Given the description of an element on the screen output the (x, y) to click on. 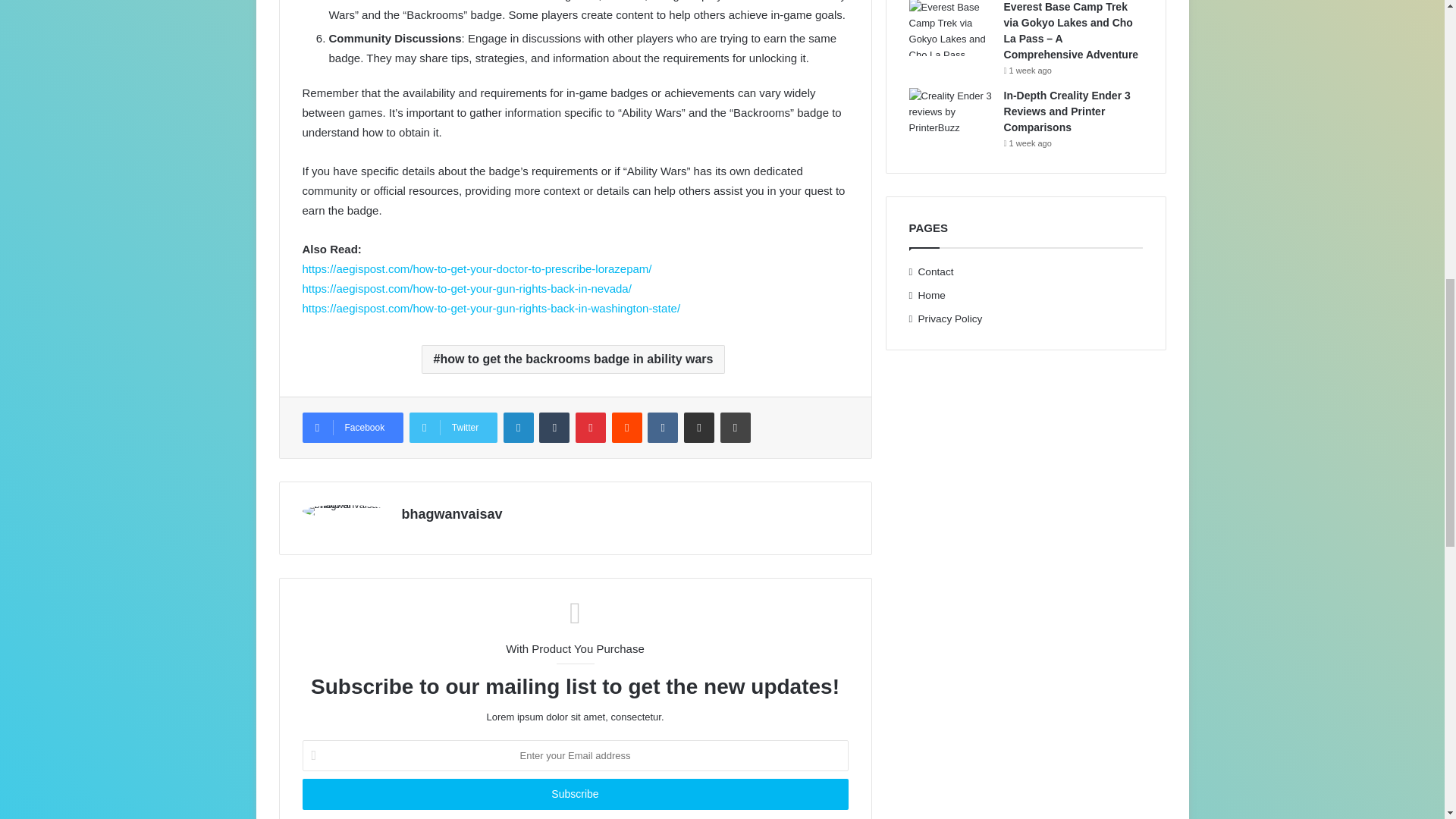
LinkedIn (518, 427)
Print (735, 427)
bhagwanvaisav (451, 513)
how to get the backrooms badge in ability wars (573, 358)
Share via Email (699, 427)
Subscribe (574, 793)
Tumblr (553, 427)
VKontakte (662, 427)
Subscribe (574, 793)
Reddit (626, 427)
